Given the description of an element on the screen output the (x, y) to click on. 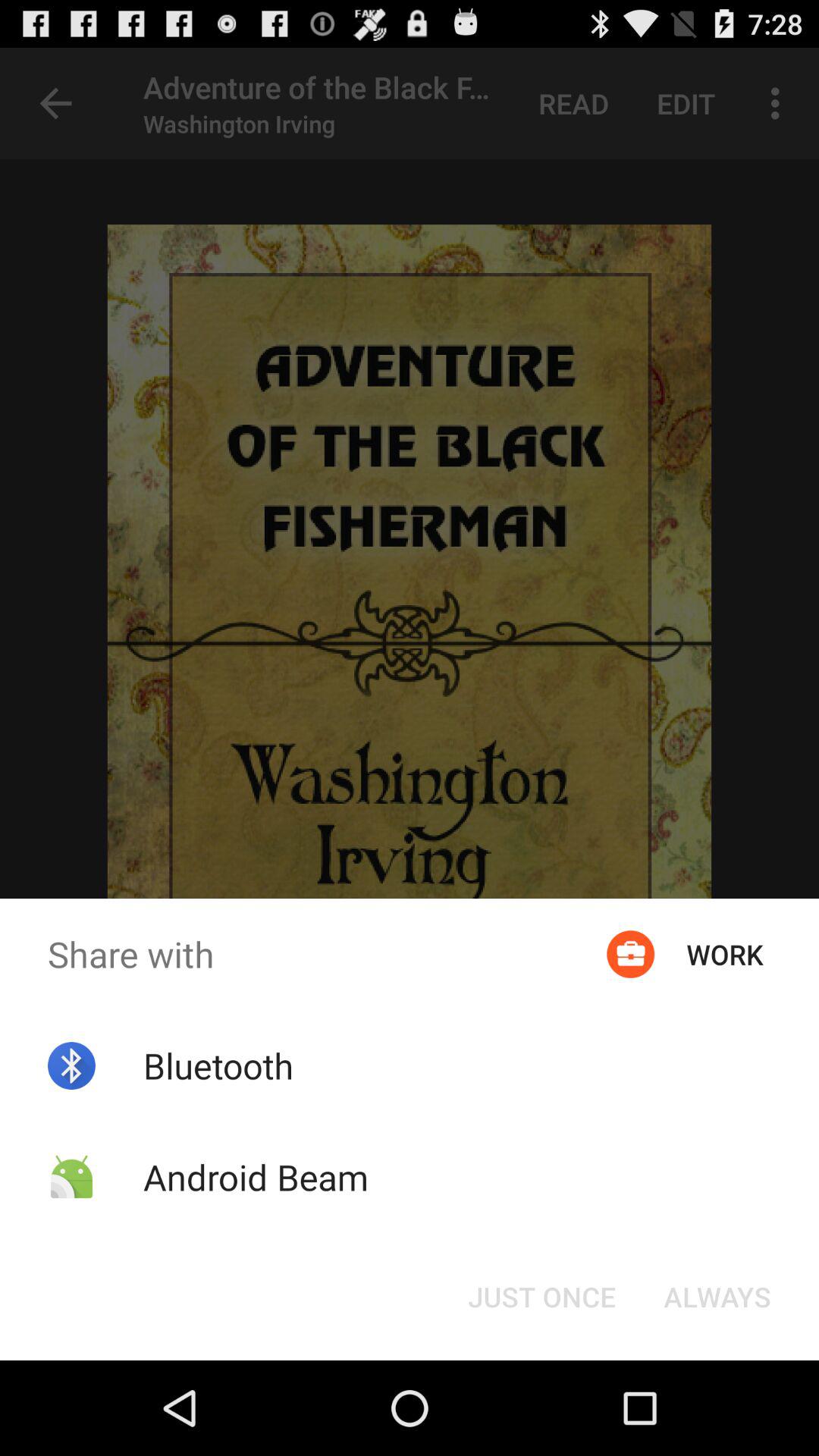
tap the icon below the share with icon (218, 1065)
